Given the description of an element on the screen output the (x, y) to click on. 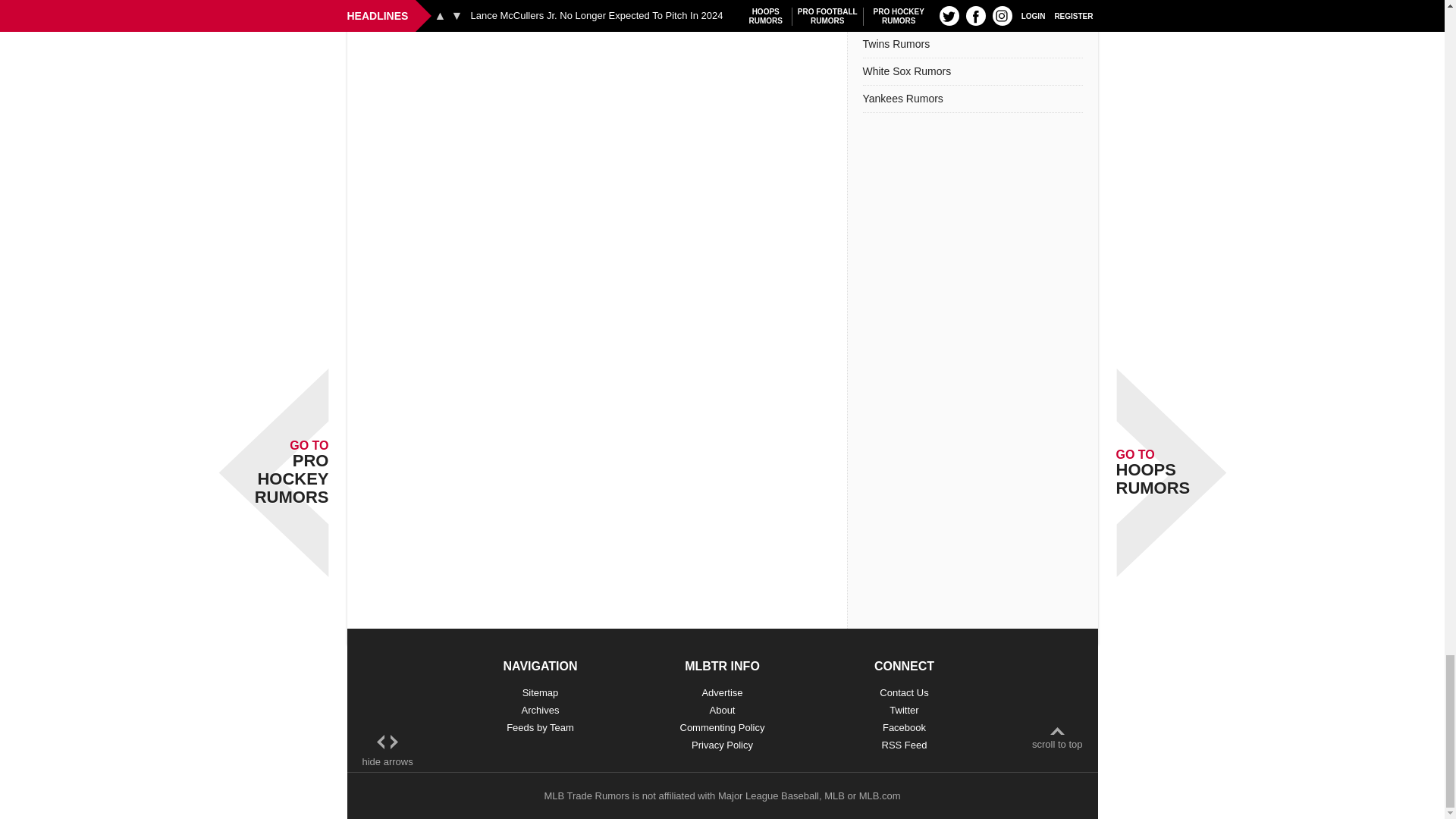
MLB Trade Rumors (585, 795)
